Given the description of an element on the screen output the (x, y) to click on. 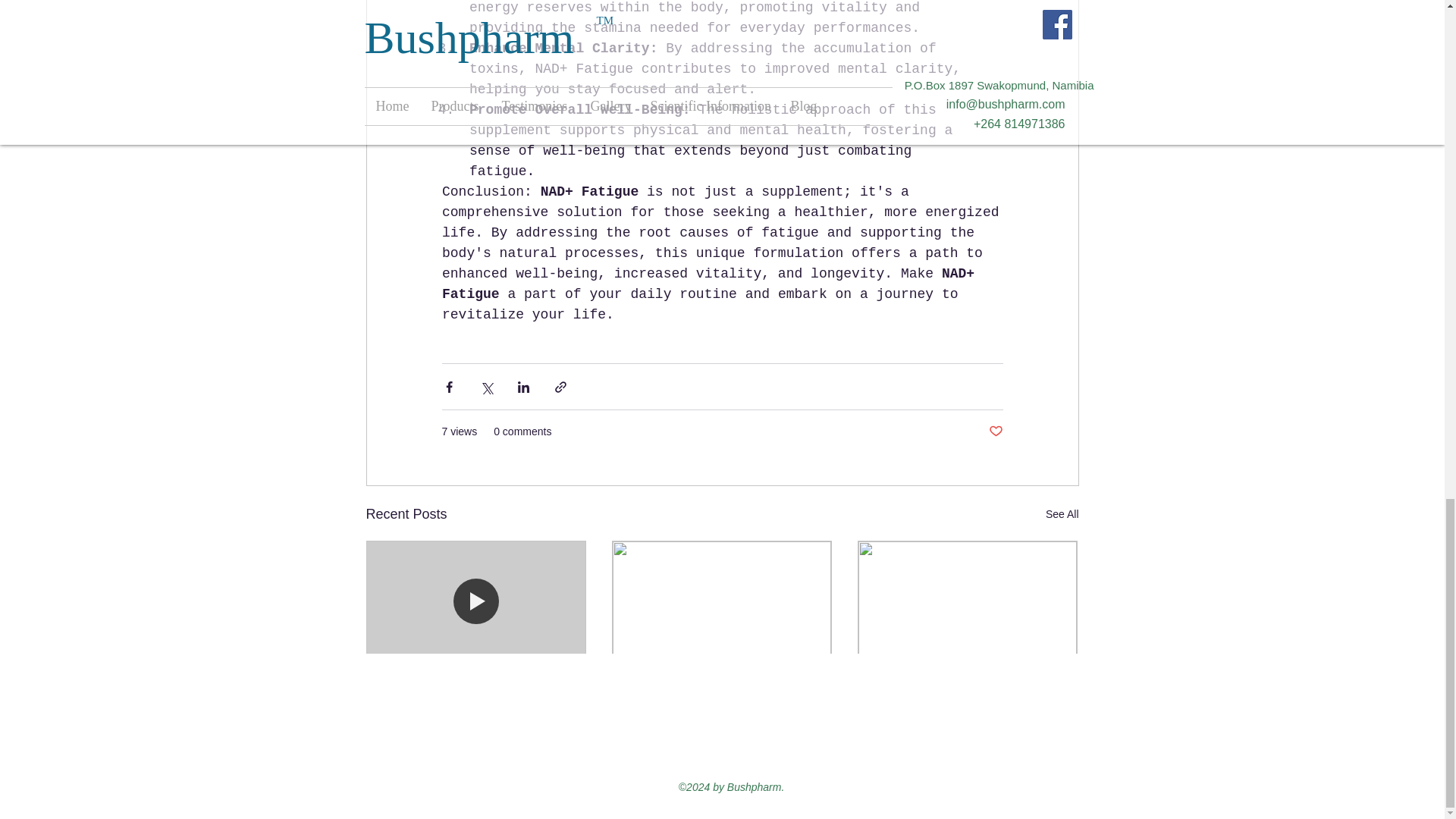
0 (931, 751)
MAJOR DEPRESSIVE DISORDER (967, 698)
The Complex Relationship Between Stress, Memory, and Mind (476, 698)
"Serobrine: Your Natural Path to Serenity and Vitality" (721, 698)
See All (1061, 514)
0 (681, 751)
Post not marked as liked (558, 751)
0 (435, 751)
Post not marked as liked (804, 751)
Post not marked as liked (1050, 751)
Post not marked as liked (995, 431)
